Given the description of an element on the screen output the (x, y) to click on. 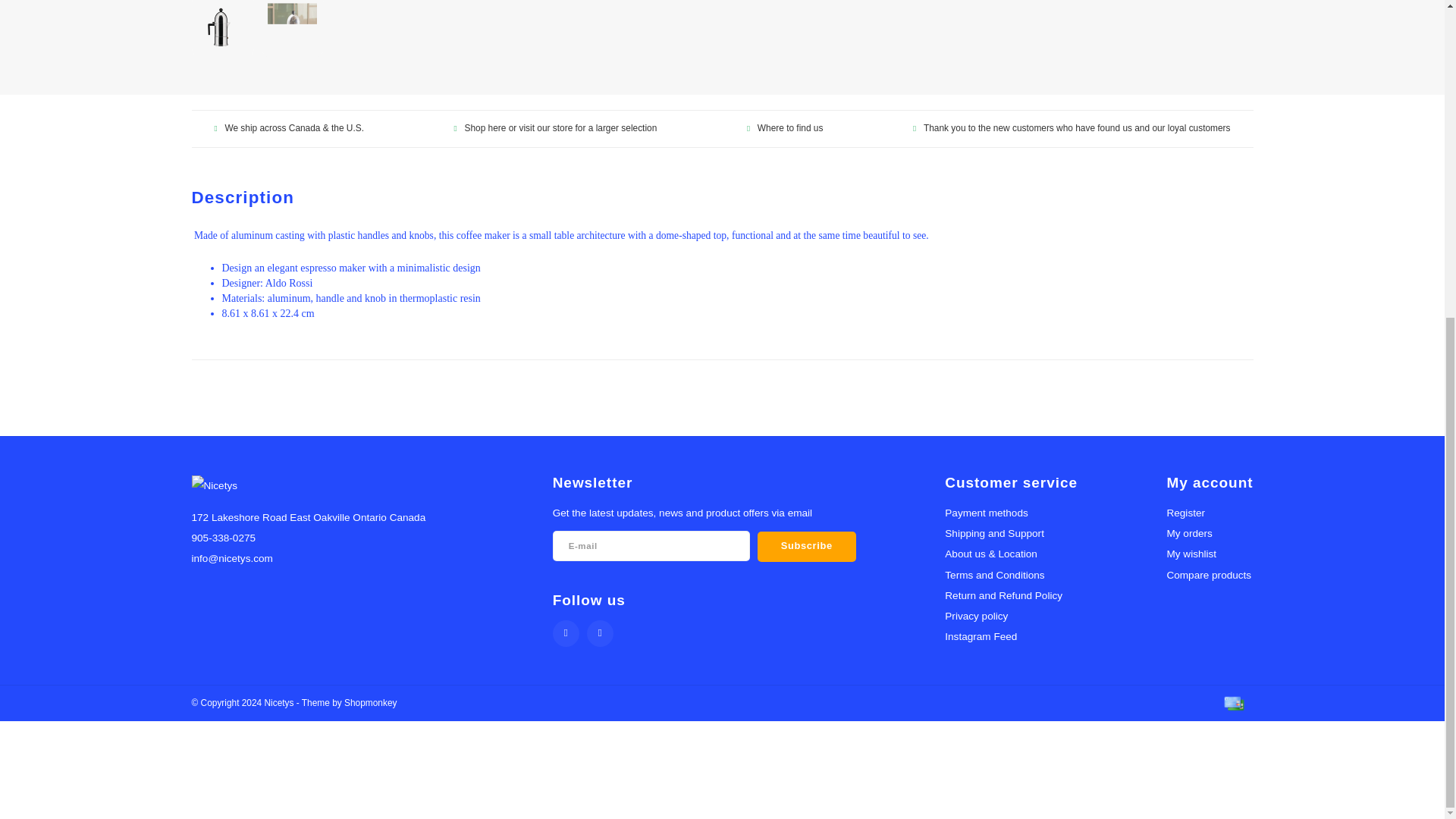
Register (1185, 512)
My wishlist (1190, 553)
Instagram Nicetys (599, 633)
Payment methods (1232, 702)
Subscribe (806, 546)
Alessi ALESSI La Cupola Espresso Coffee Maker 3 cup (222, 25)
My orders (1188, 532)
Alessi ALESSI La Cupola Espresso Coffee Maker 3 cup (292, 25)
